Given the description of an element on the screen output the (x, y) to click on. 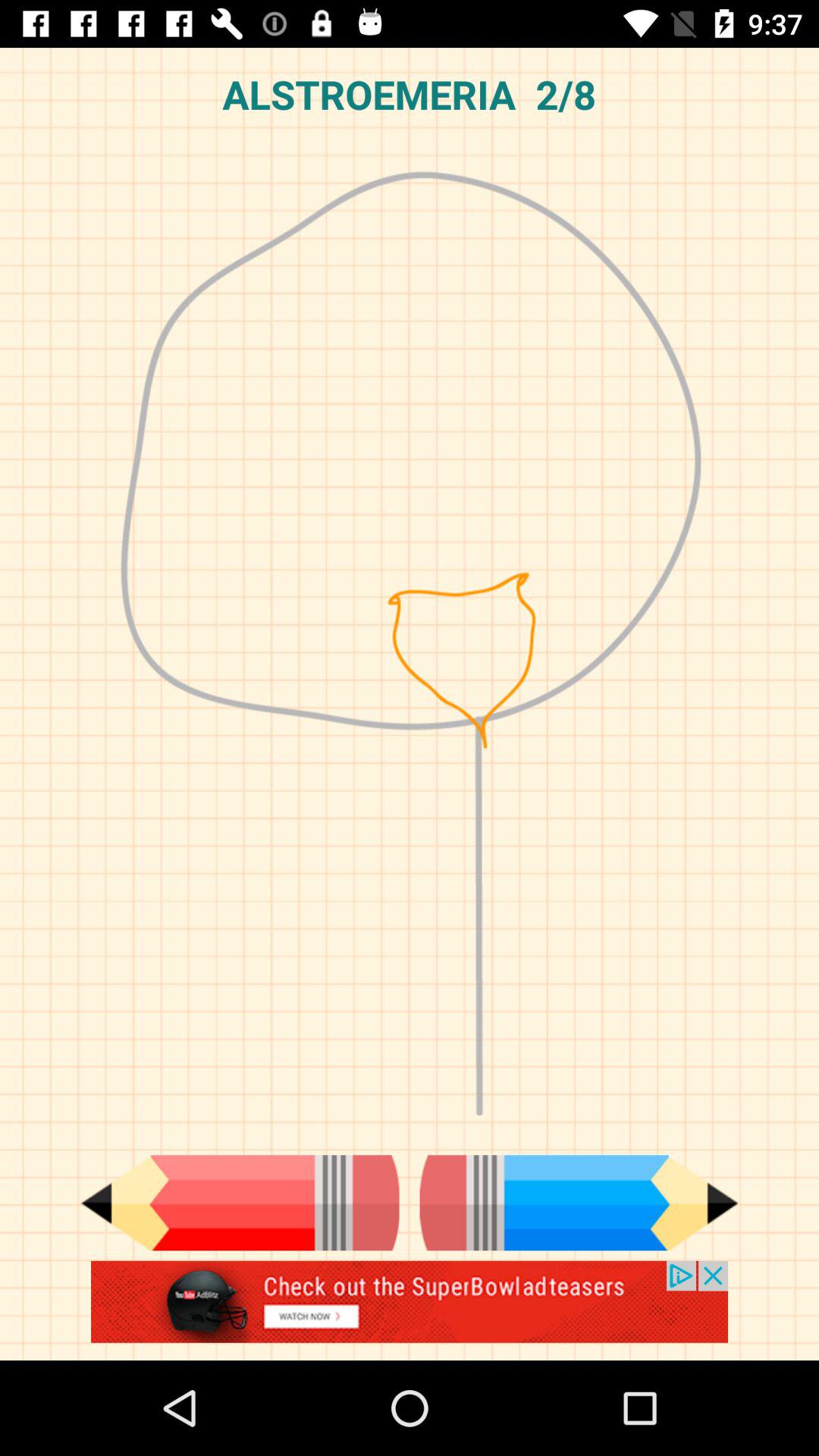
select advertisement (409, 1310)
